Given the description of an element on the screen output the (x, y) to click on. 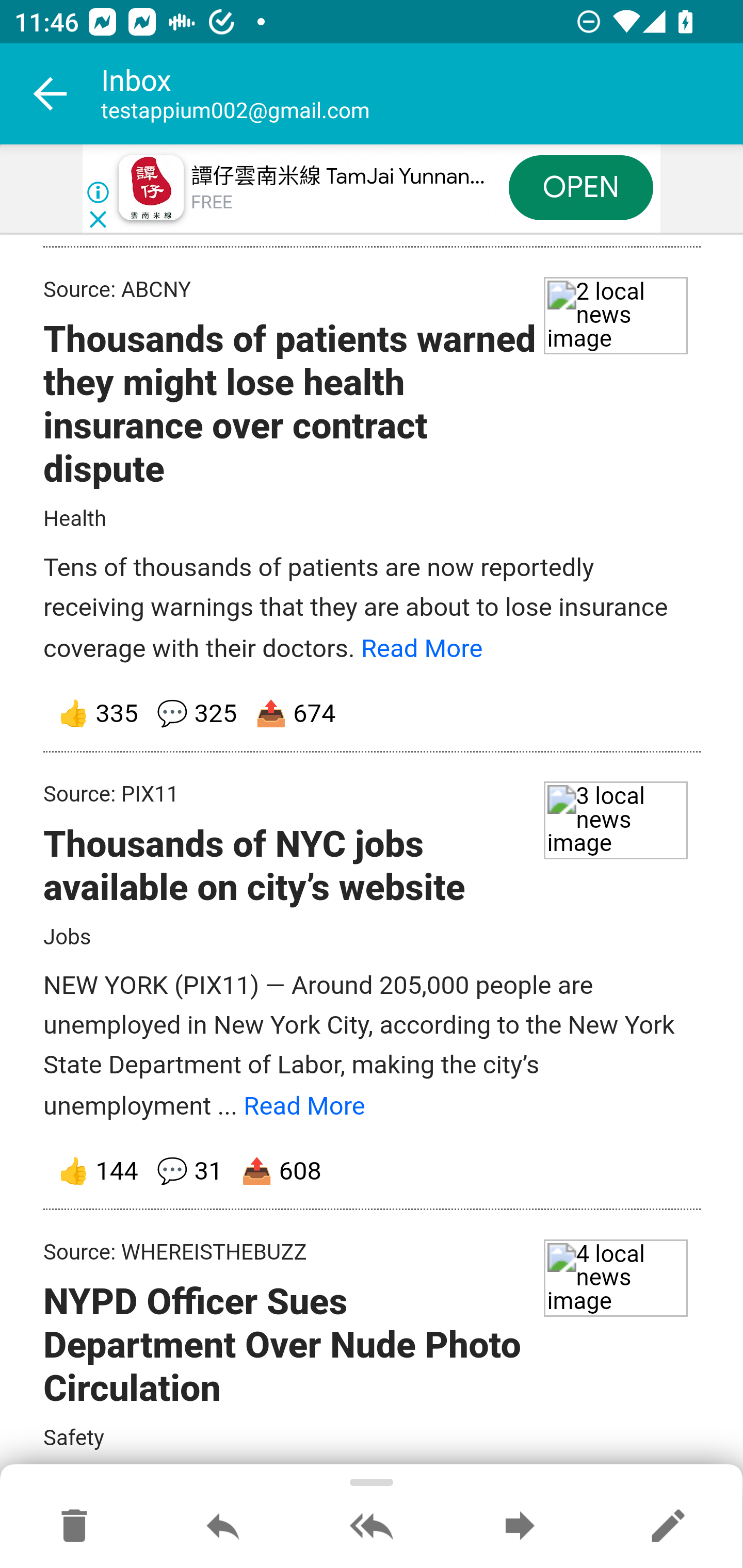
Navigate up (50, 93)
Inbox testappium002@gmail.com (422, 93)
OPEN (580, 187)
譚仔雲南米線 TamJai Yunnan… (337, 177)
👍 335   💬 325   📤 674 (372, 714)
Thousands of NYC jobs available on city’s website (254, 867)
👍 144   💬 31   📤 608 (372, 1171)
Move to Deleted (74, 1527)
Reply (222, 1527)
Reply all (371, 1527)
Forward (519, 1527)
Reply as new (667, 1527)
